Given the description of an element on the screen output the (x, y) to click on. 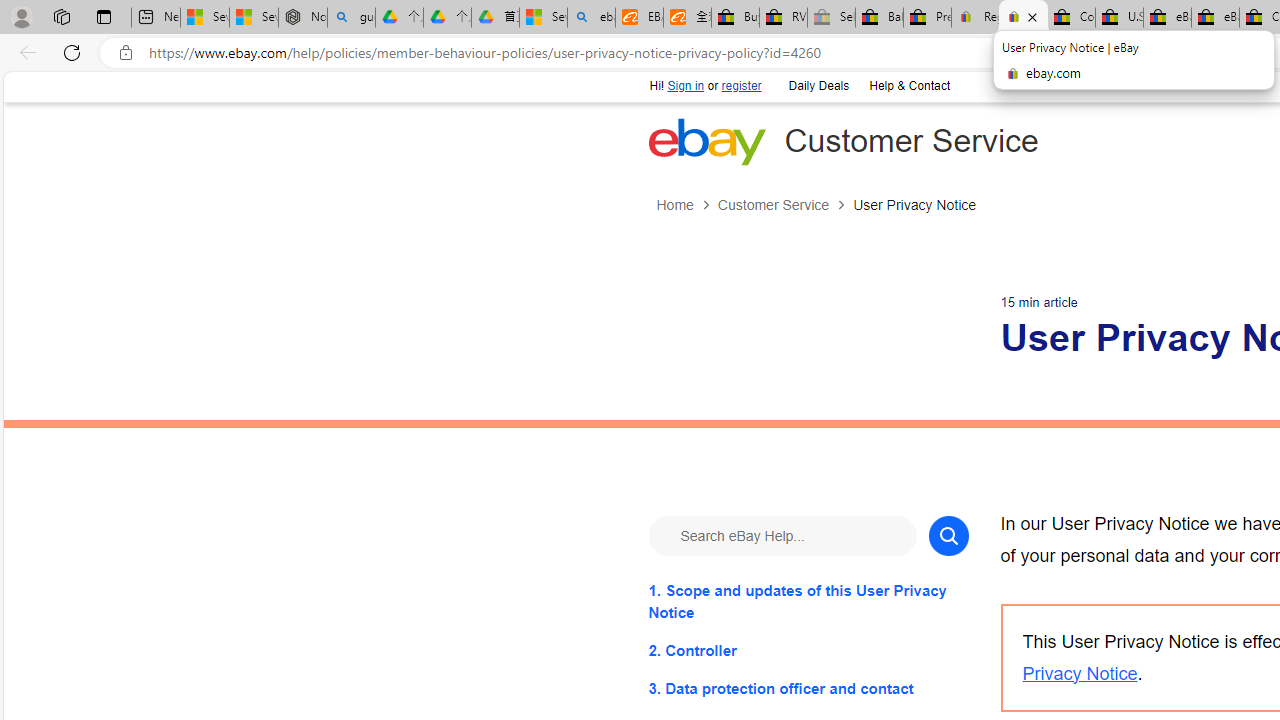
Register: Create a personal eBay account (975, 17)
3. Data protection officer and contact (807, 687)
Sell worldwide with eBay - Sleeping (831, 17)
eBay Home (706, 141)
Consumer Health Data Privacy Policy - eBay Inc. (1071, 17)
Sign in (685, 85)
User Privacy Notice (914, 205)
